Given the description of an element on the screen output the (x, y) to click on. 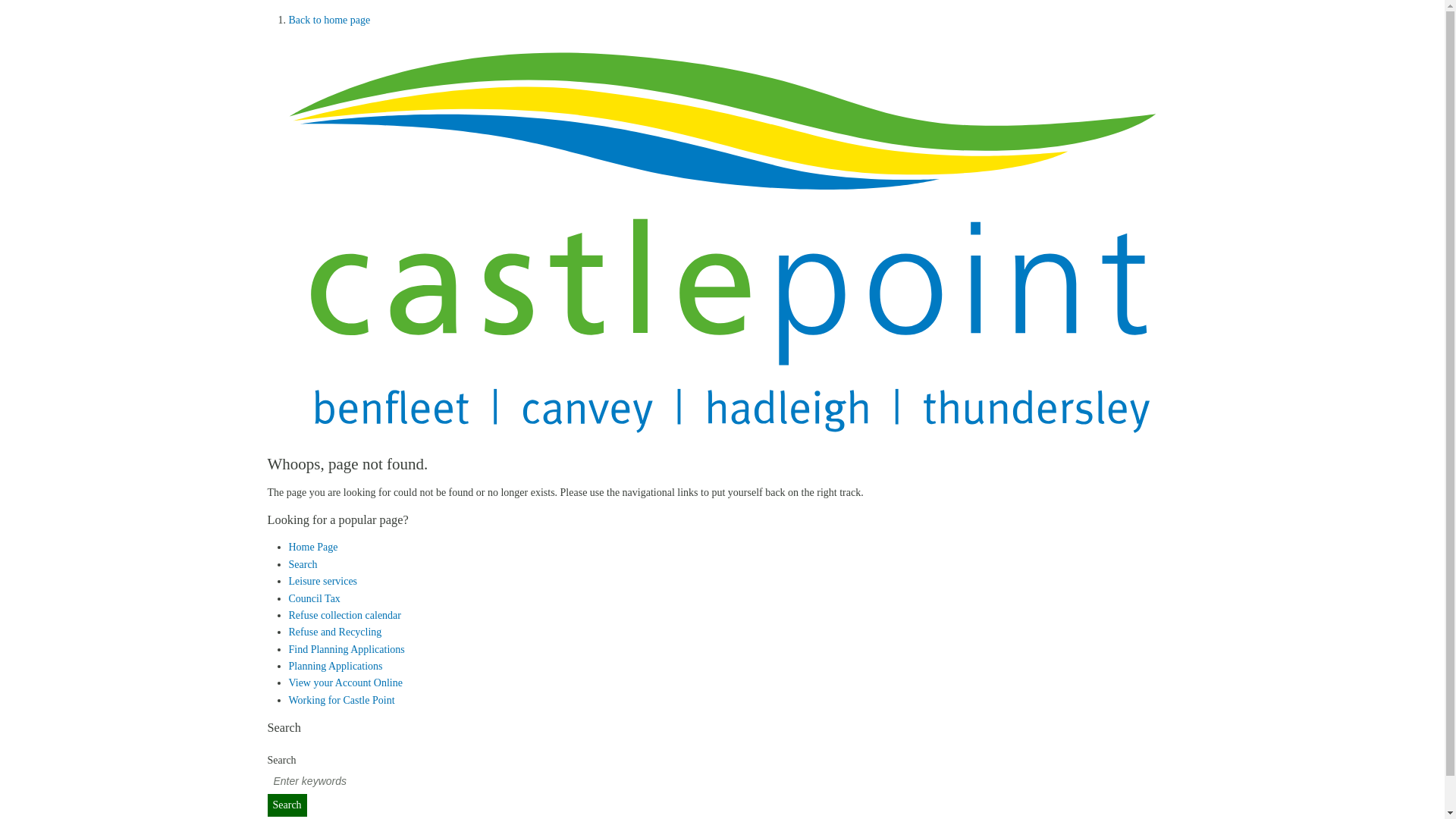
Search (285, 804)
Back to home page (328, 19)
Council Tax (313, 598)
Home Page (312, 546)
Refuse and Recycling (334, 632)
View your Account Online (344, 682)
Refuse collection calendar (344, 614)
Planning Applications (334, 665)
Search (285, 804)
Working for Castle Point (341, 699)
